Given the description of an element on the screen output the (x, y) to click on. 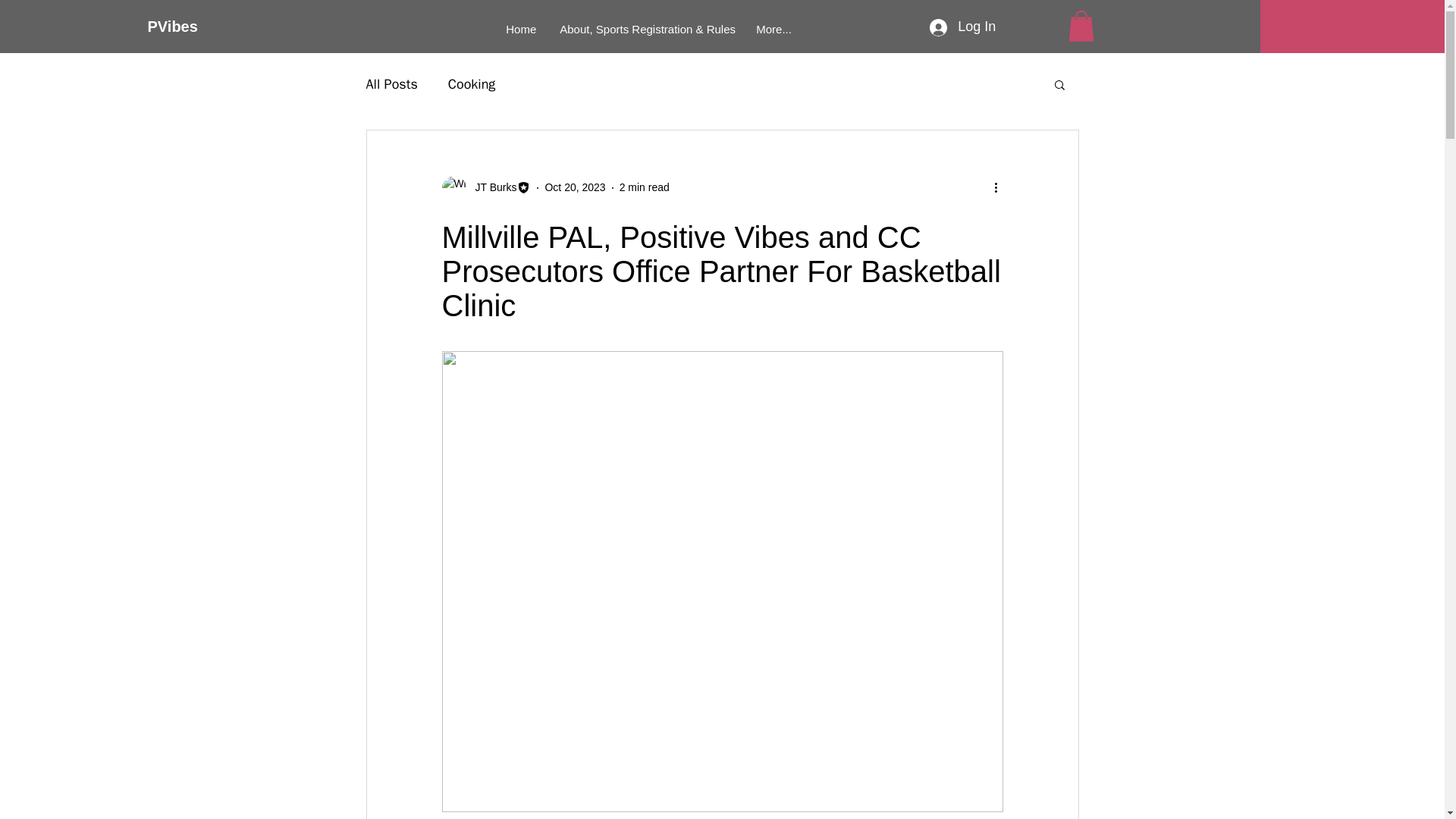
PVibes (198, 25)
Cooking (472, 84)
All Posts (390, 84)
JT Burks (486, 187)
Oct 20, 2023 (574, 186)
Home (521, 29)
JT Burks (490, 187)
Log In (962, 26)
2 min read (644, 186)
